Given the description of an element on the screen output the (x, y) to click on. 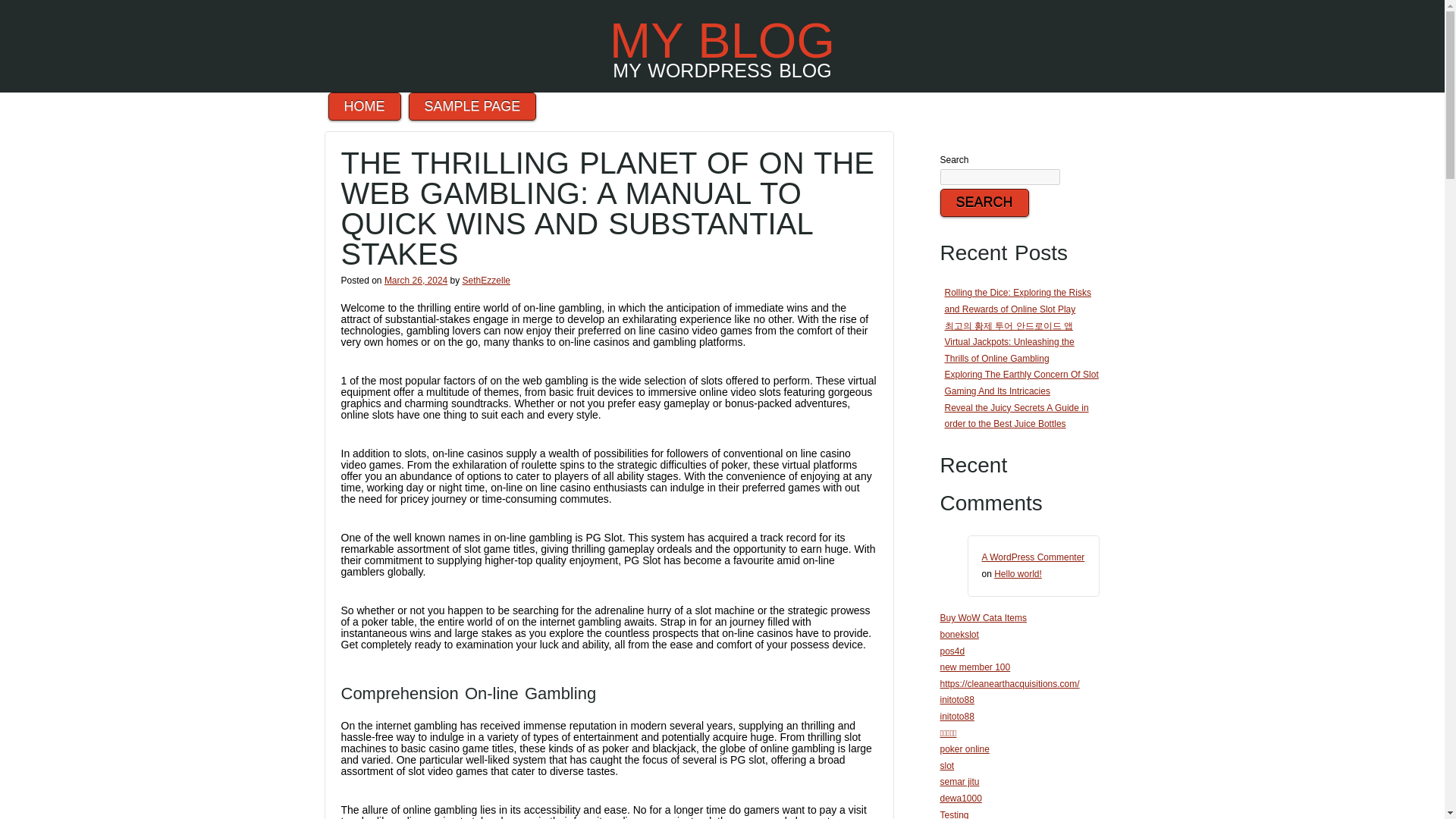
HOME (364, 106)
SEARCH (984, 203)
Virtual Jackpots: Unleashing the Thrills of Online Gambling (1009, 349)
View all posts by SethEzzelle (487, 280)
12:23 pm (415, 280)
initoto88 (957, 716)
Buy WoW Cata Items (983, 617)
A WordPress Commenter (1032, 557)
Hello world! (1018, 573)
SAMPLE PAGE (473, 106)
slot (947, 765)
new member 100 (975, 666)
bonekslot (959, 634)
